Given the description of an element on the screen output the (x, y) to click on. 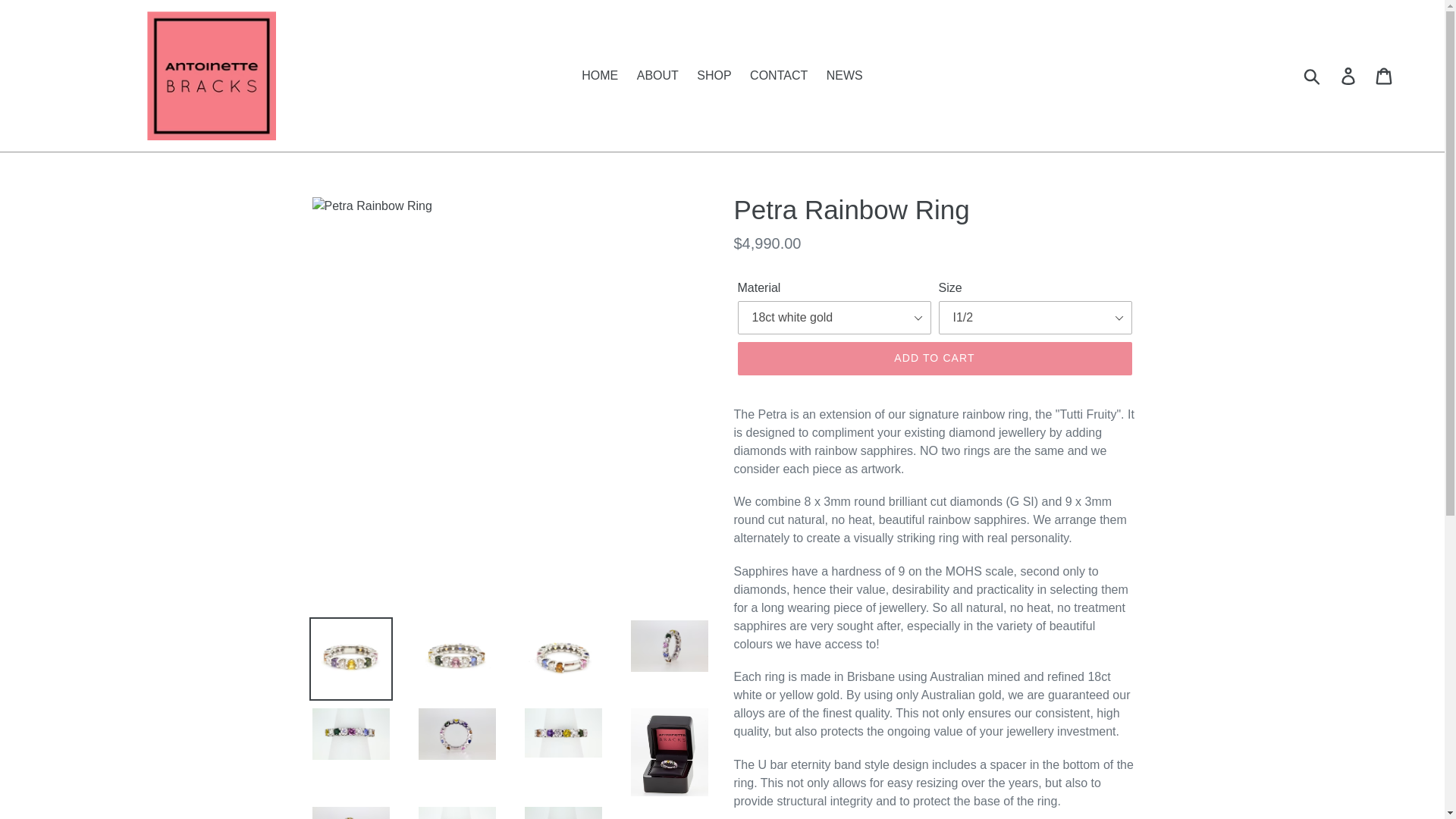
NEWS (844, 75)
ADD TO CART (933, 358)
ABOUT (656, 75)
Log in (1349, 75)
Cart (1385, 75)
SHOP (713, 75)
HOME (599, 75)
CONTACT (778, 75)
Submit (1313, 75)
